Given the description of an element on the screen output the (x, y) to click on. 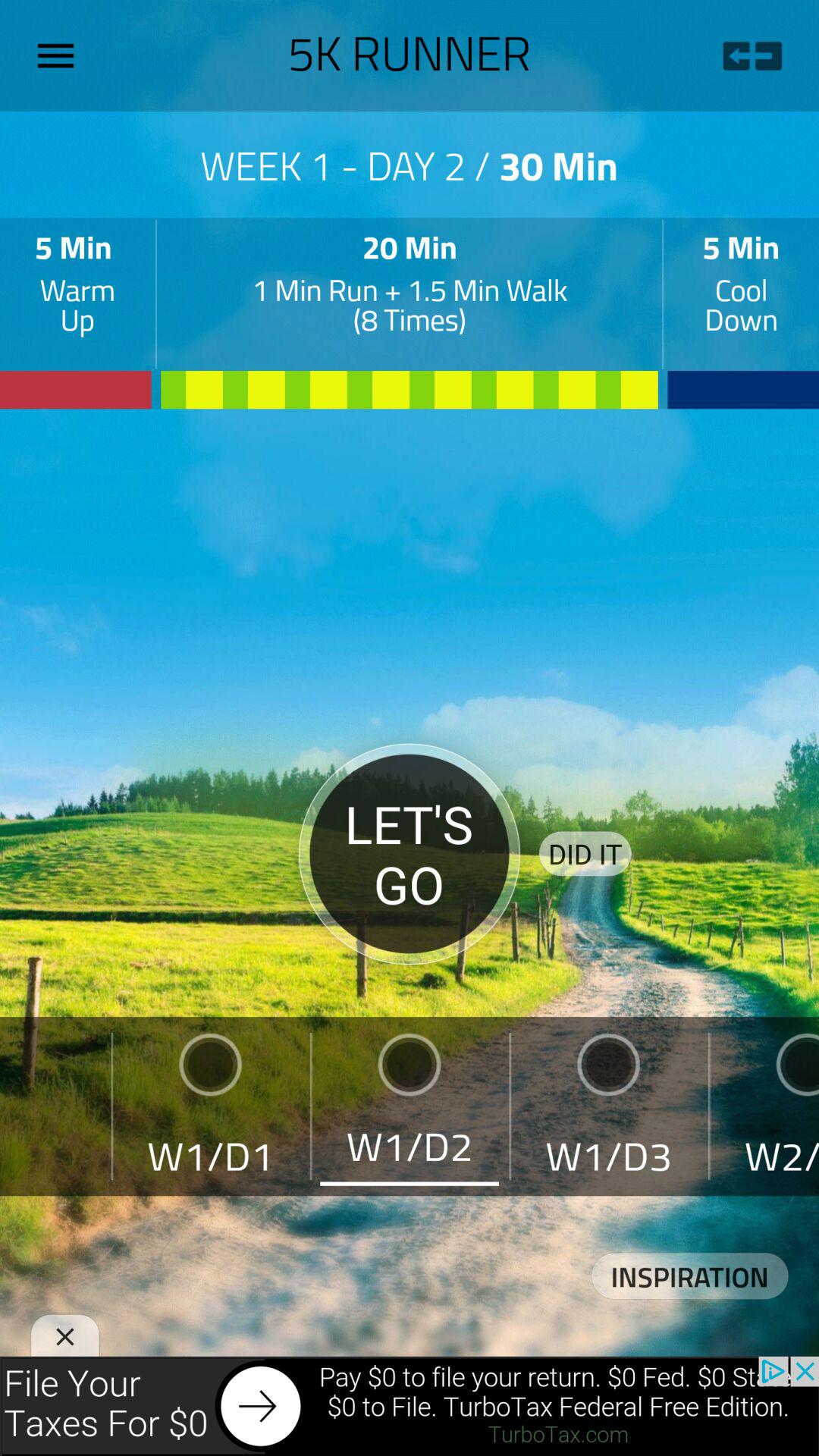
open the menu (61, 55)
